Given the description of an element on the screen output the (x, y) to click on. 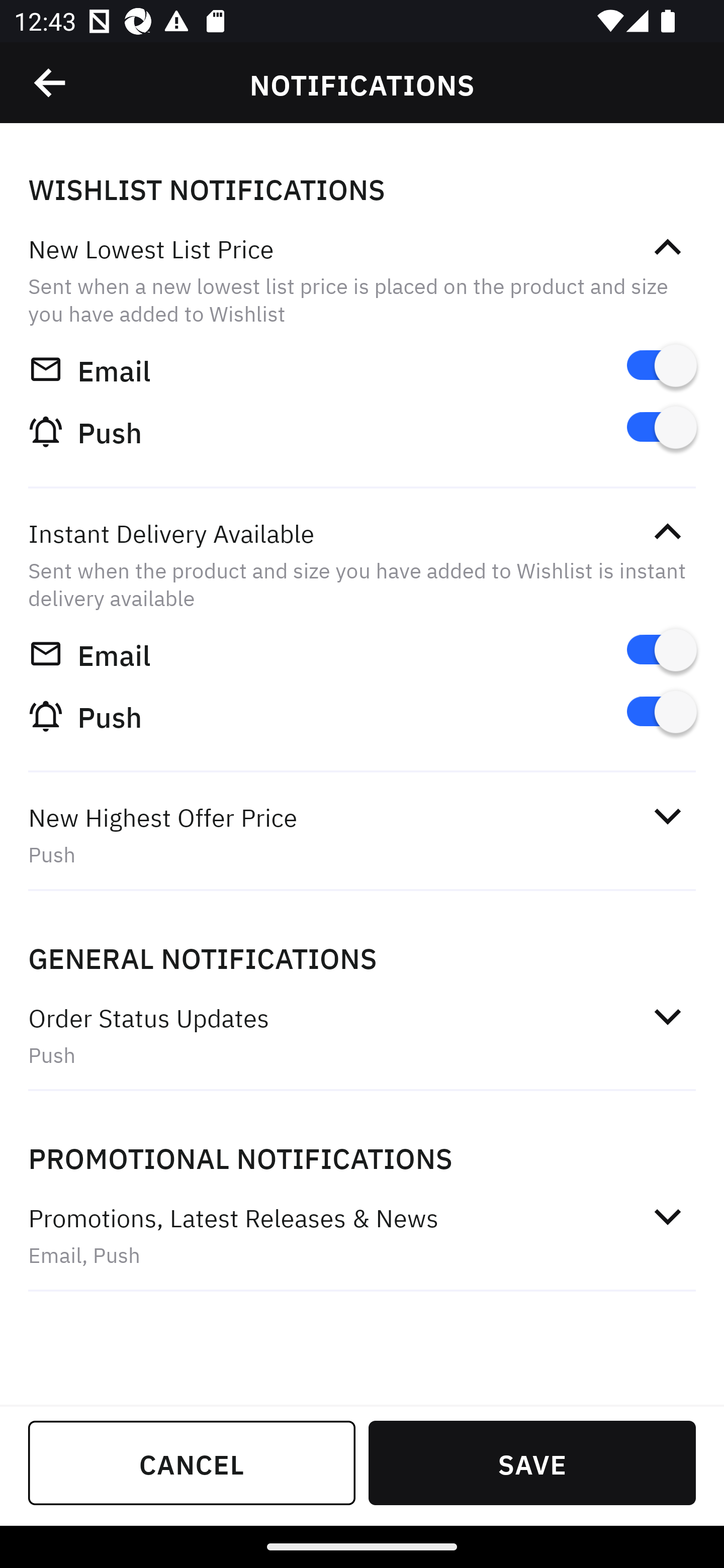
 (50, 83)
 (667, 247)
 (667, 532)
New Highest Offer Price  Push (361, 835)
 (667, 815)
Order Status Updates  Push (361, 1035)
 (667, 1016)
Promotions, Latest Releases & News  Email, Push (361, 1235)
 (667, 1216)
CANCEL (191, 1462)
SAVE (531, 1462)
